Given the description of an element on the screen output the (x, y) to click on. 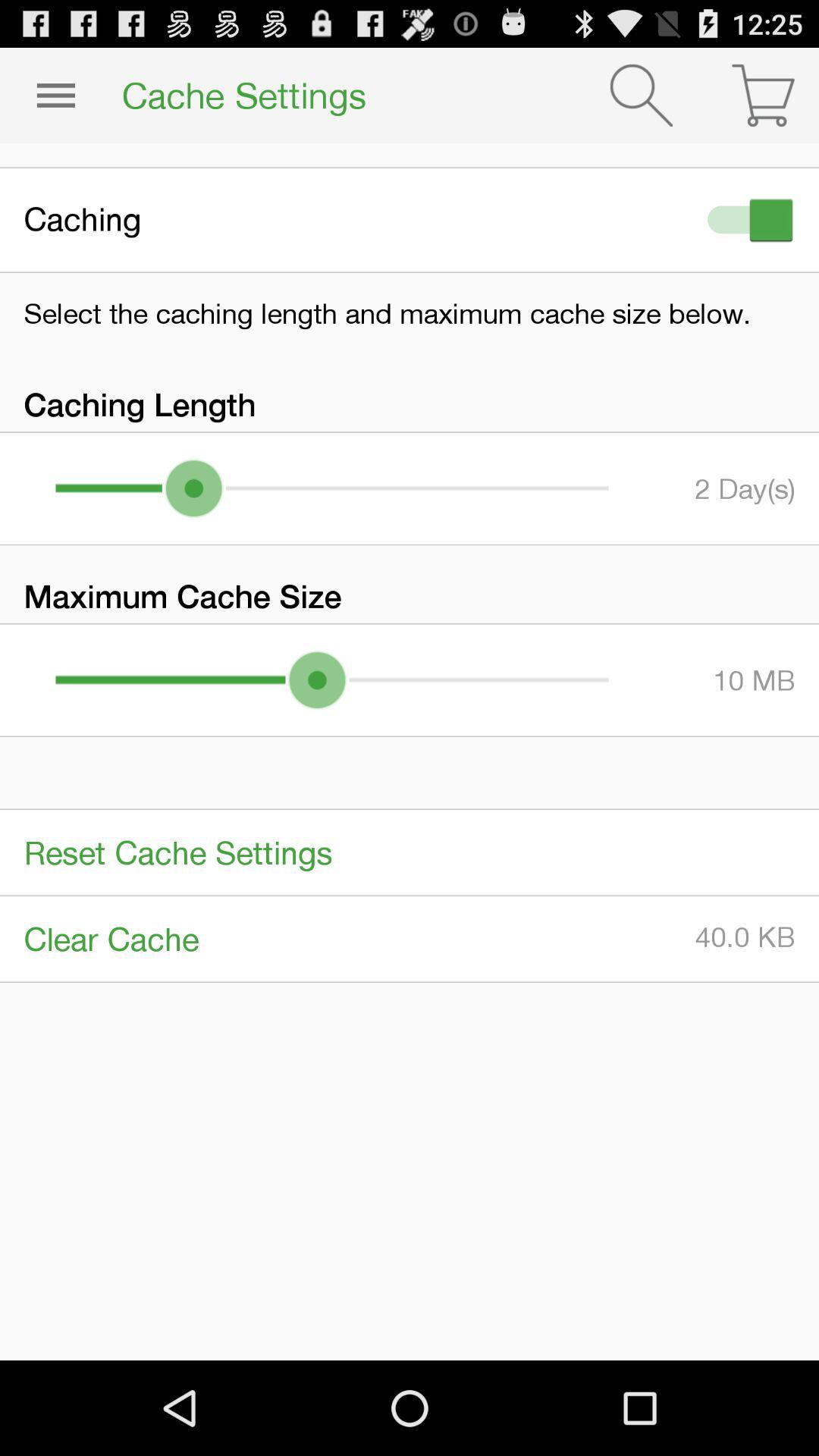
more options button (55, 95)
